Given the description of an element on the screen output the (x, y) to click on. 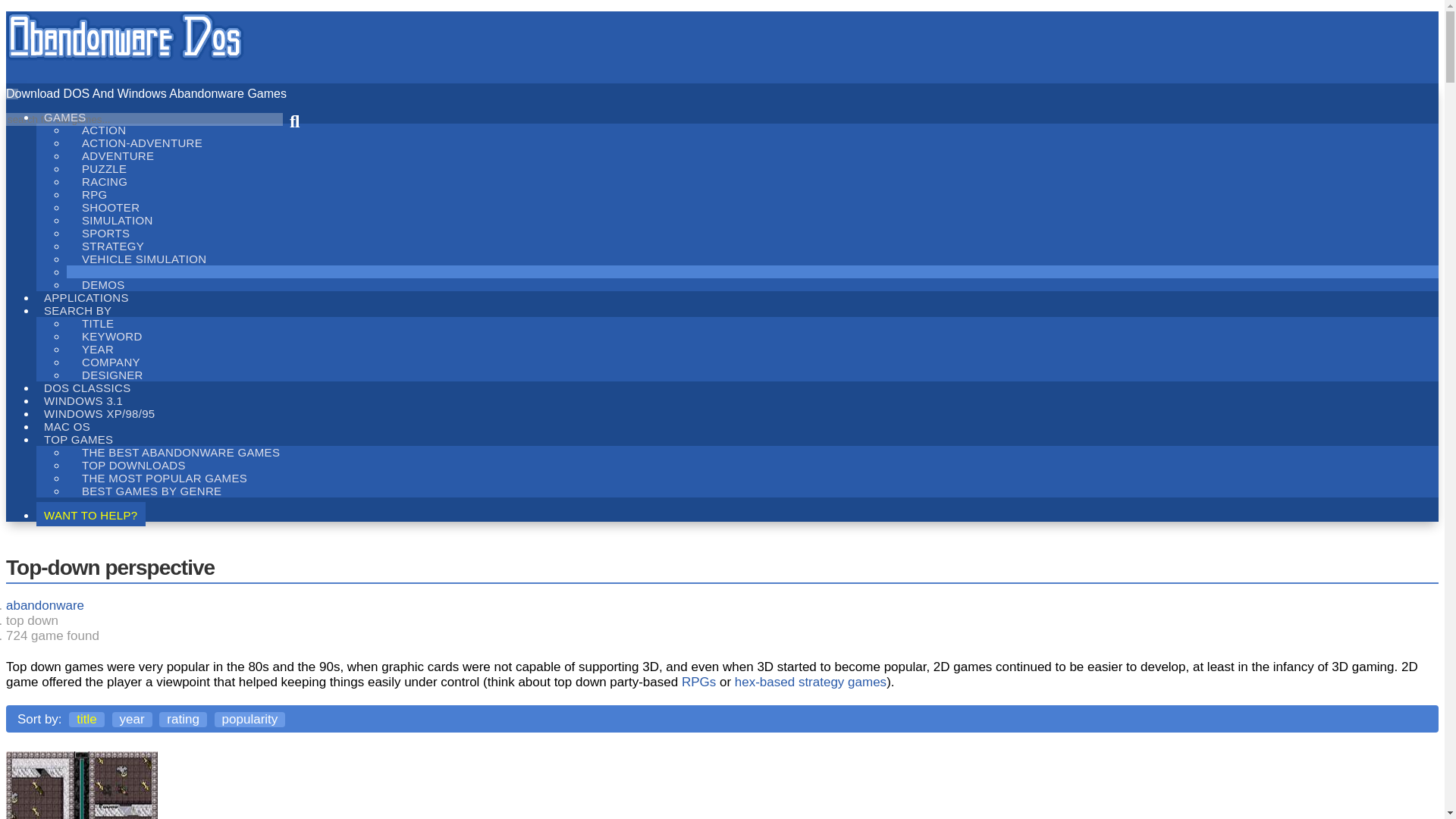
DEMOS (102, 284)
year (132, 719)
ADVENTURE (117, 155)
SHOOTER (110, 207)
MAC OS (67, 425)
COMPANY (110, 361)
SIMULATION (117, 220)
BEST GAMES BY GENRE (150, 490)
RPG (94, 194)
ACTION (103, 129)
YEAR (97, 348)
TOP GAMES (78, 437)
ACTION-ADVENTURE (141, 142)
Toggle navigation (11, 93)
title (85, 719)
